Given the description of an element on the screen output the (x, y) to click on. 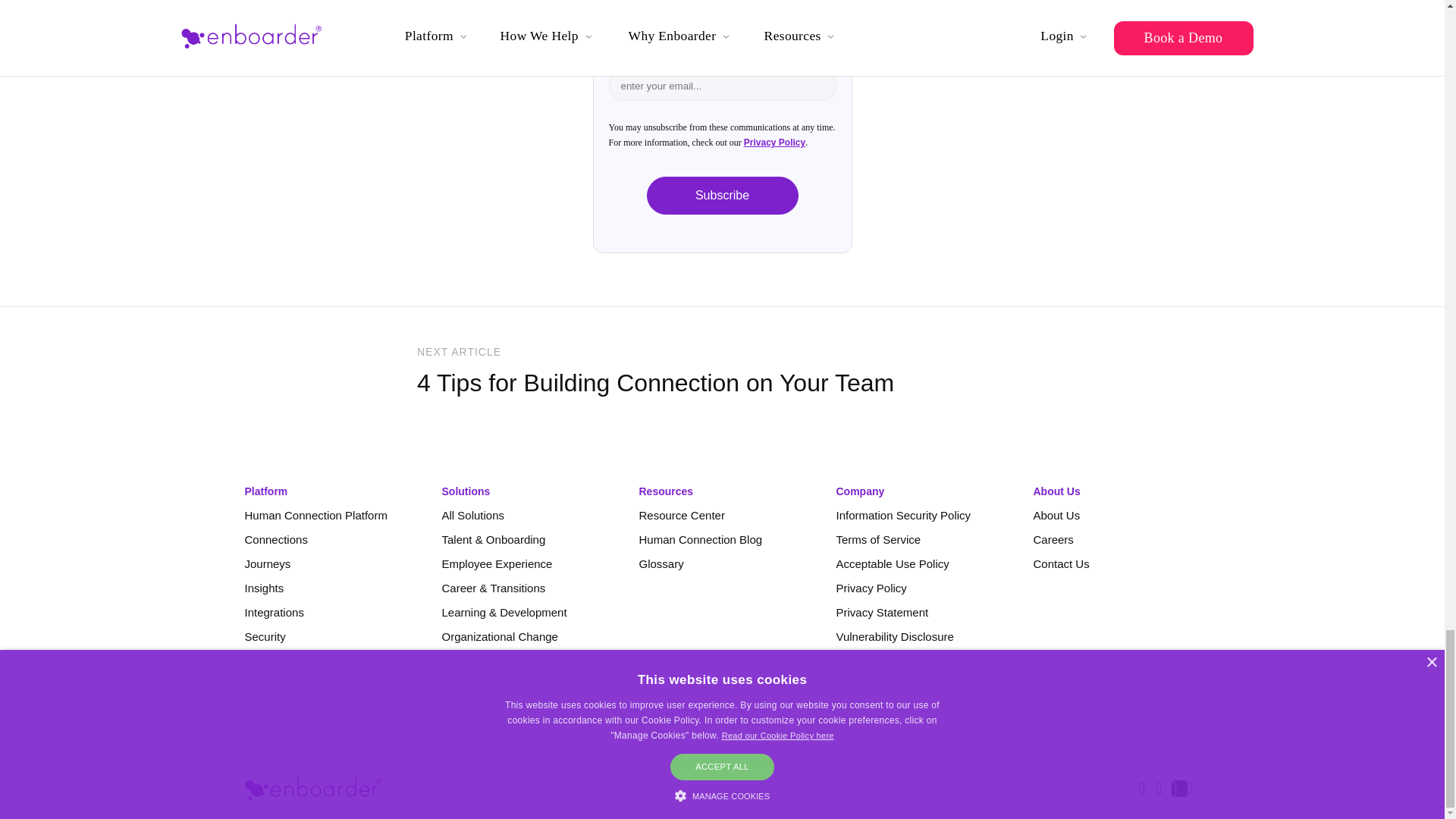
Subscribe (721, 195)
Subscribe (721, 195)
Privacy Policy (774, 142)
